Given the description of an element on the screen output the (x, y) to click on. 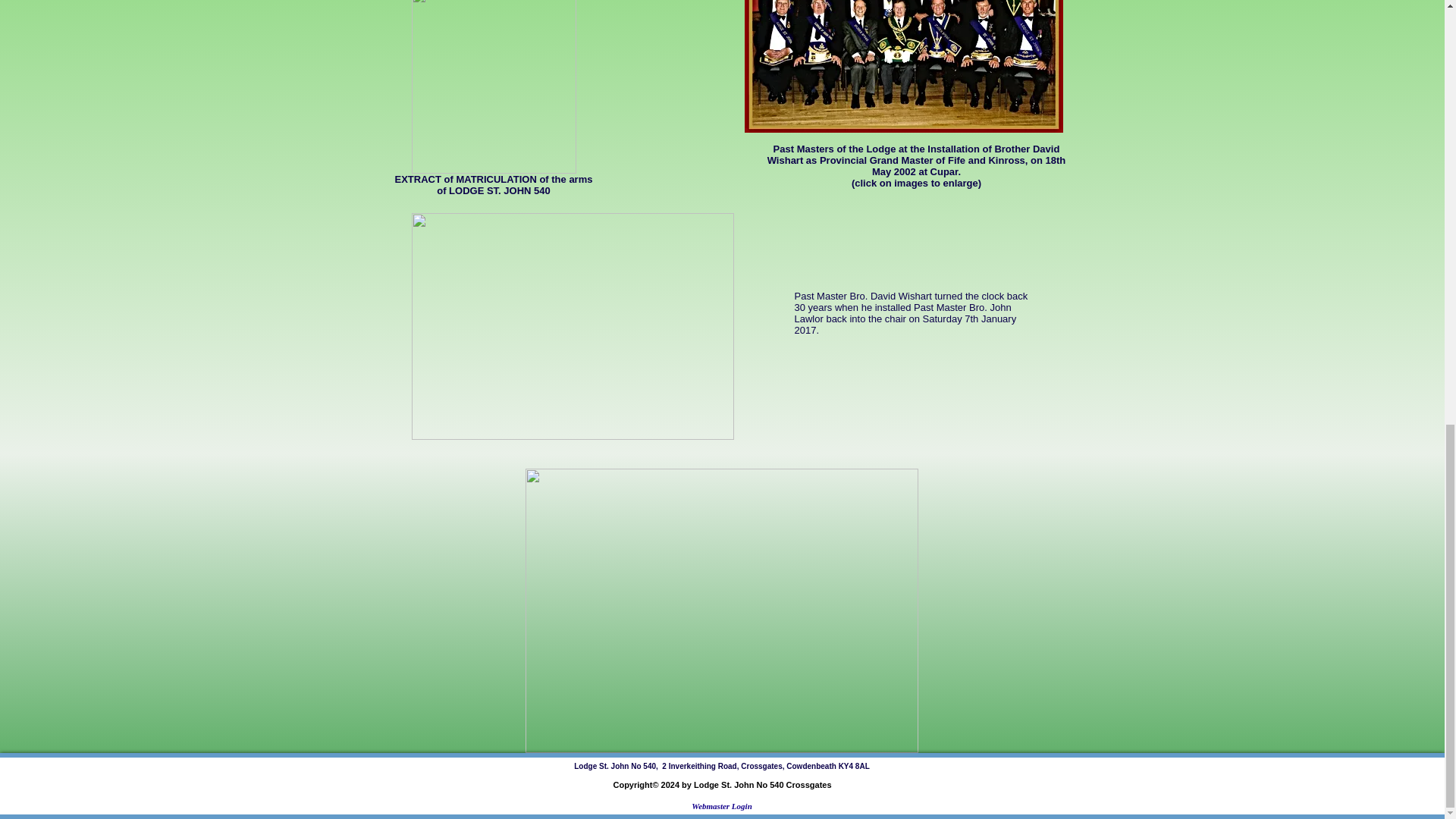
1973 - 1974.jpg (720, 610)
2-image0.jpg (903, 66)
